Given the description of an element on the screen output the (x, y) to click on. 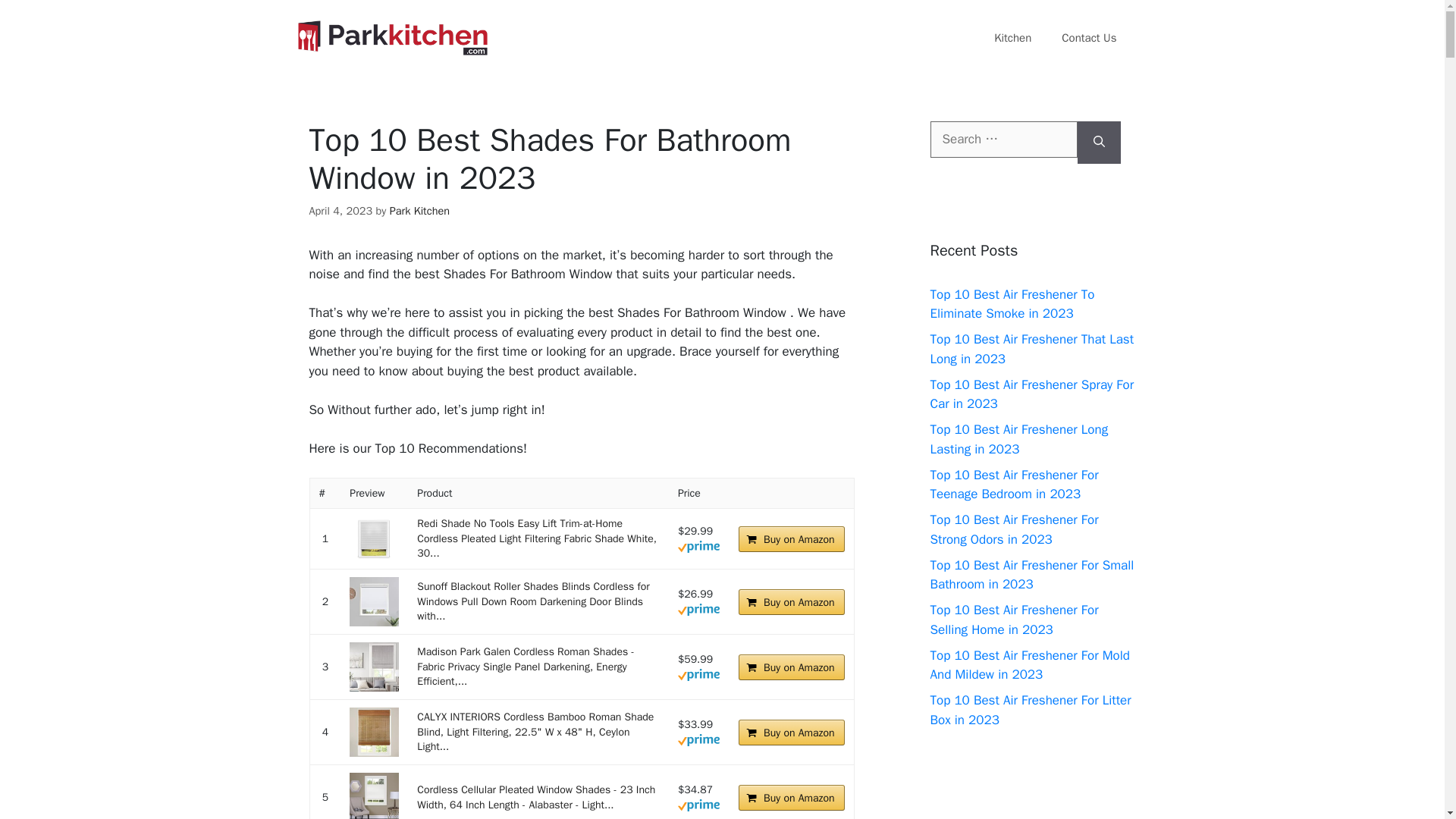
Amazon Prime (698, 545)
Buy on Amazon (791, 667)
Buy on Amazon (791, 667)
View all posts by Park Kitchen (419, 210)
Buy on Amazon (791, 601)
Contact Us (1088, 37)
Buy on Amazon (791, 732)
Kitchen (1012, 37)
Amazon Prime (698, 608)
